Given the description of an element on the screen output the (x, y) to click on. 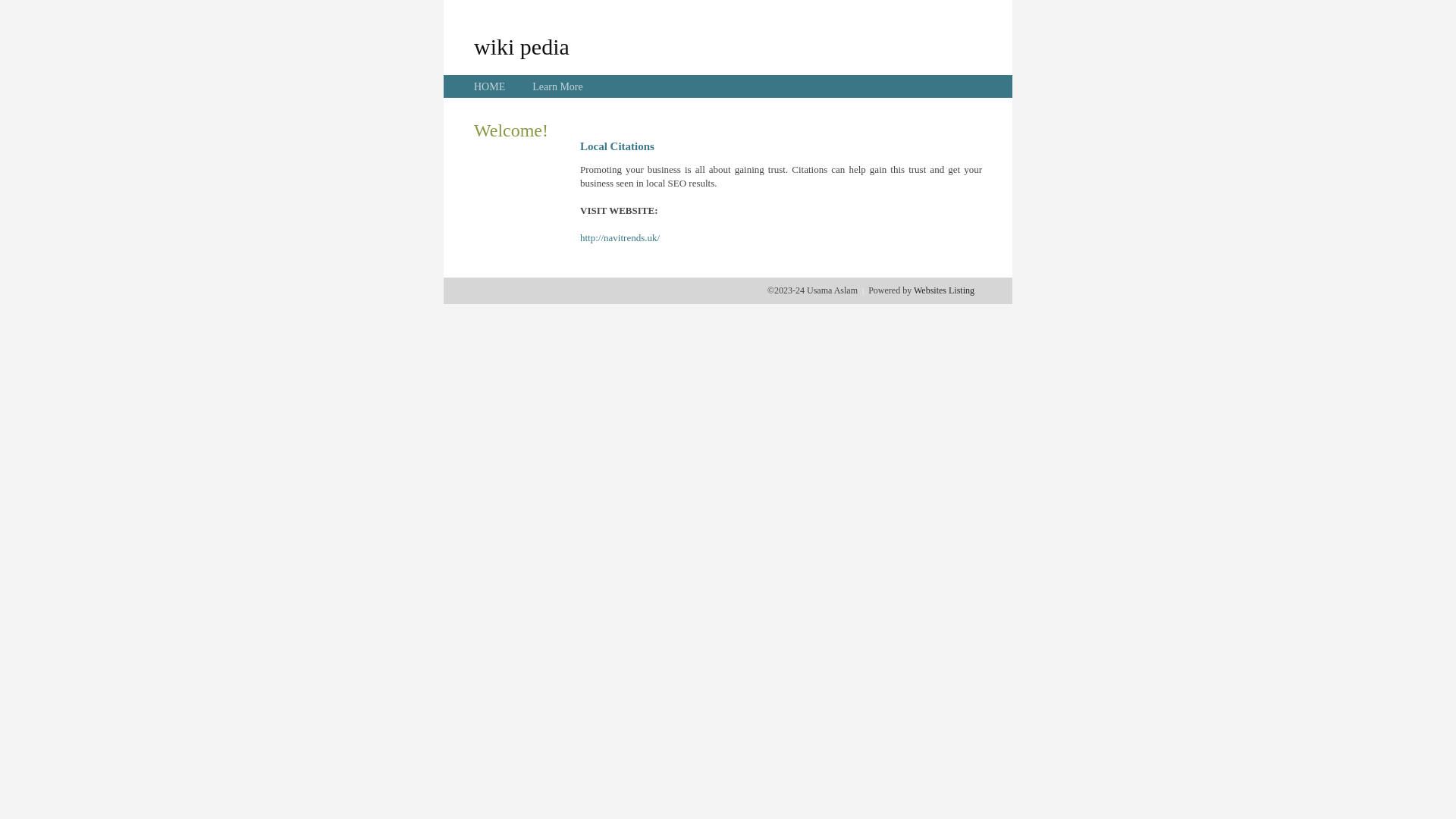
Websites Listing Element type: text (943, 290)
HOME Element type: text (489, 86)
wiki pedia Element type: text (521, 46)
http://navitrends.uk/ Element type: text (619, 237)
Learn More Element type: text (557, 86)
